Given the description of an element on the screen output the (x, y) to click on. 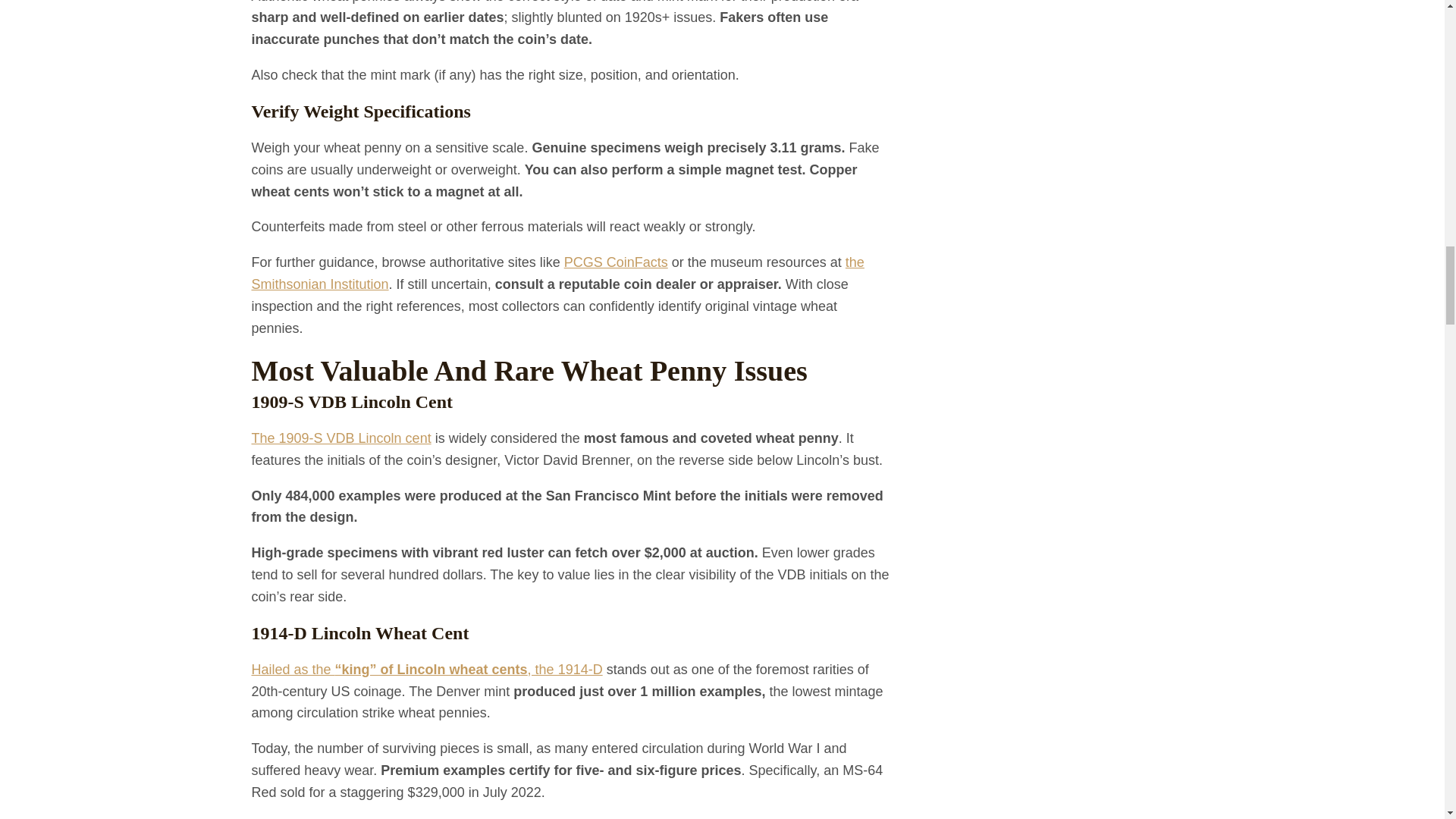
the Smithsonian Institution (557, 272)
PCGS CoinFacts (616, 262)
The 1909-S VDB Lincoln cent (340, 437)
